Given the description of an element on the screen output the (x, y) to click on. 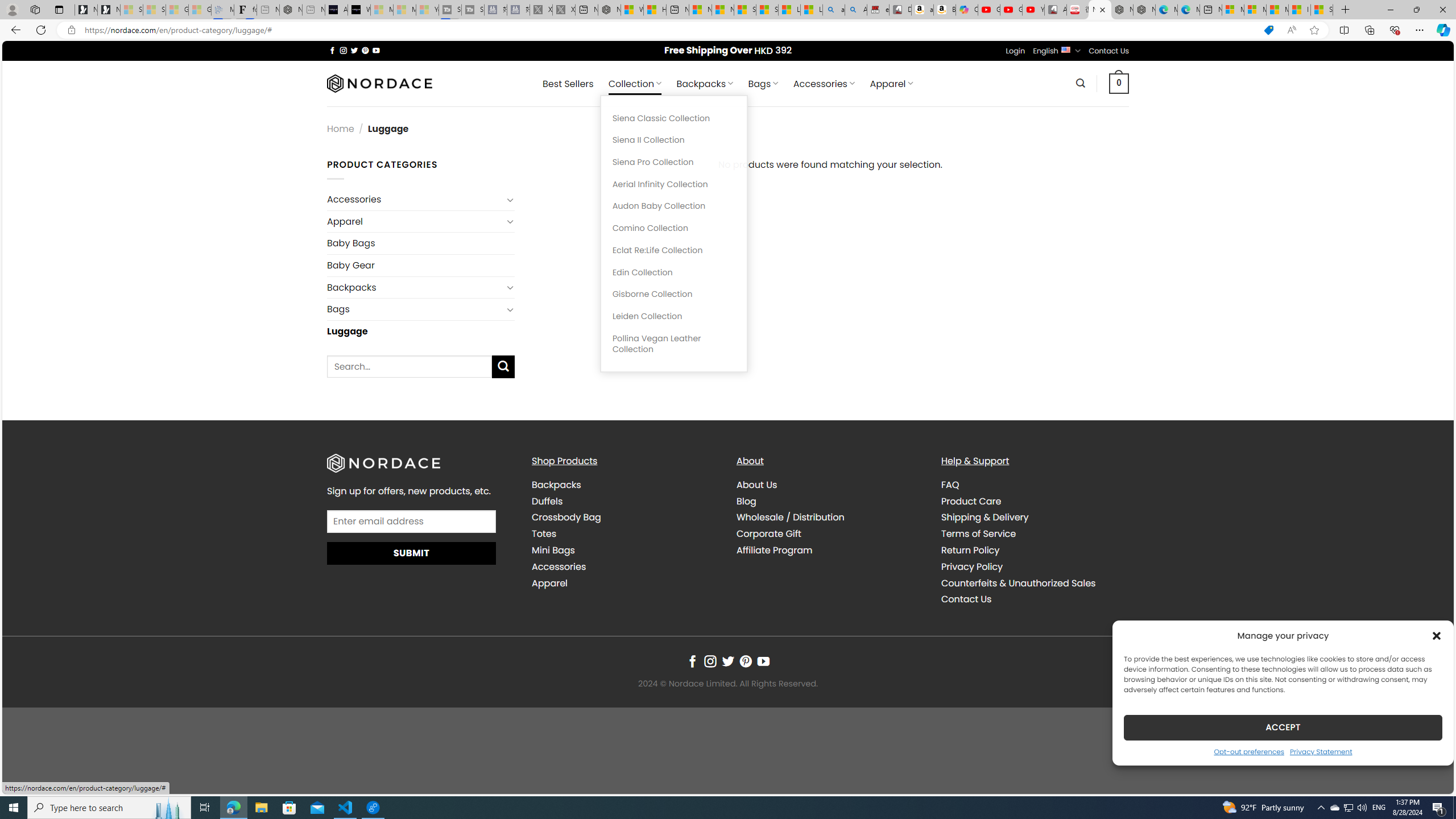
Gisborne Collection (672, 294)
Siena Pro Collection (672, 162)
Siena II Collection (672, 140)
Bags (415, 309)
Opt-out preferences (1249, 750)
Microsoft Start - Sleeping (404, 9)
amazon - Search (834, 9)
Siena Pro Collection (672, 162)
Terms of Service (978, 533)
Wildlife - MSN (631, 9)
Follow on Facebook (691, 661)
Crossbody Bag (566, 517)
Collections (1369, 29)
